Given the description of an element on the screen output the (x, y) to click on. 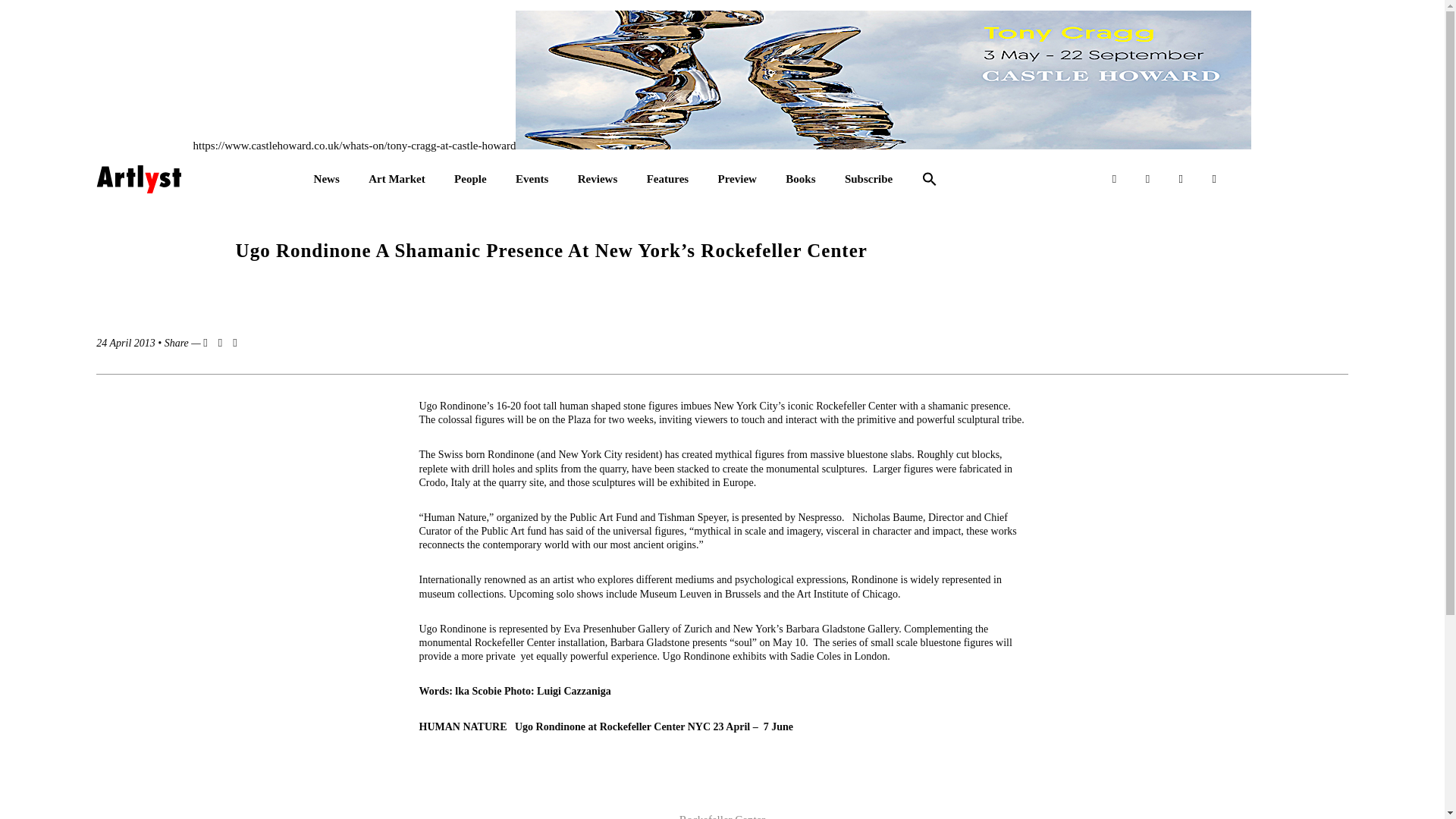
Reviews (597, 178)
Features (667, 178)
Preview (737, 178)
News (326, 178)
Subscribe (868, 178)
Events (531, 178)
Rockefeller Center (722, 816)
People (470, 178)
Books (800, 178)
Art Market (396, 178)
